Given the description of an element on the screen output the (x, y) to click on. 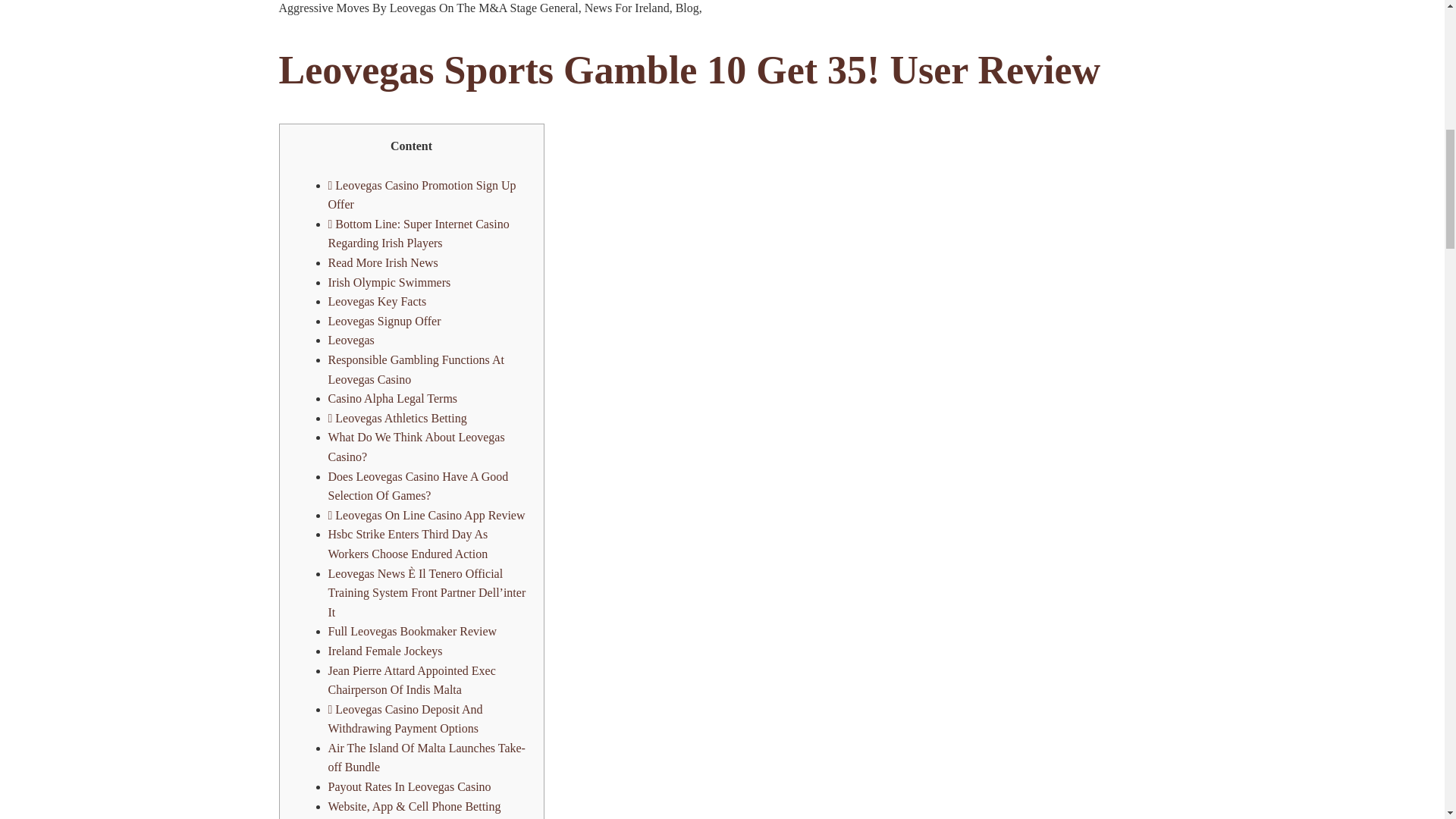
Read More Irish News (382, 262)
